Given the description of an element on the screen output the (x, y) to click on. 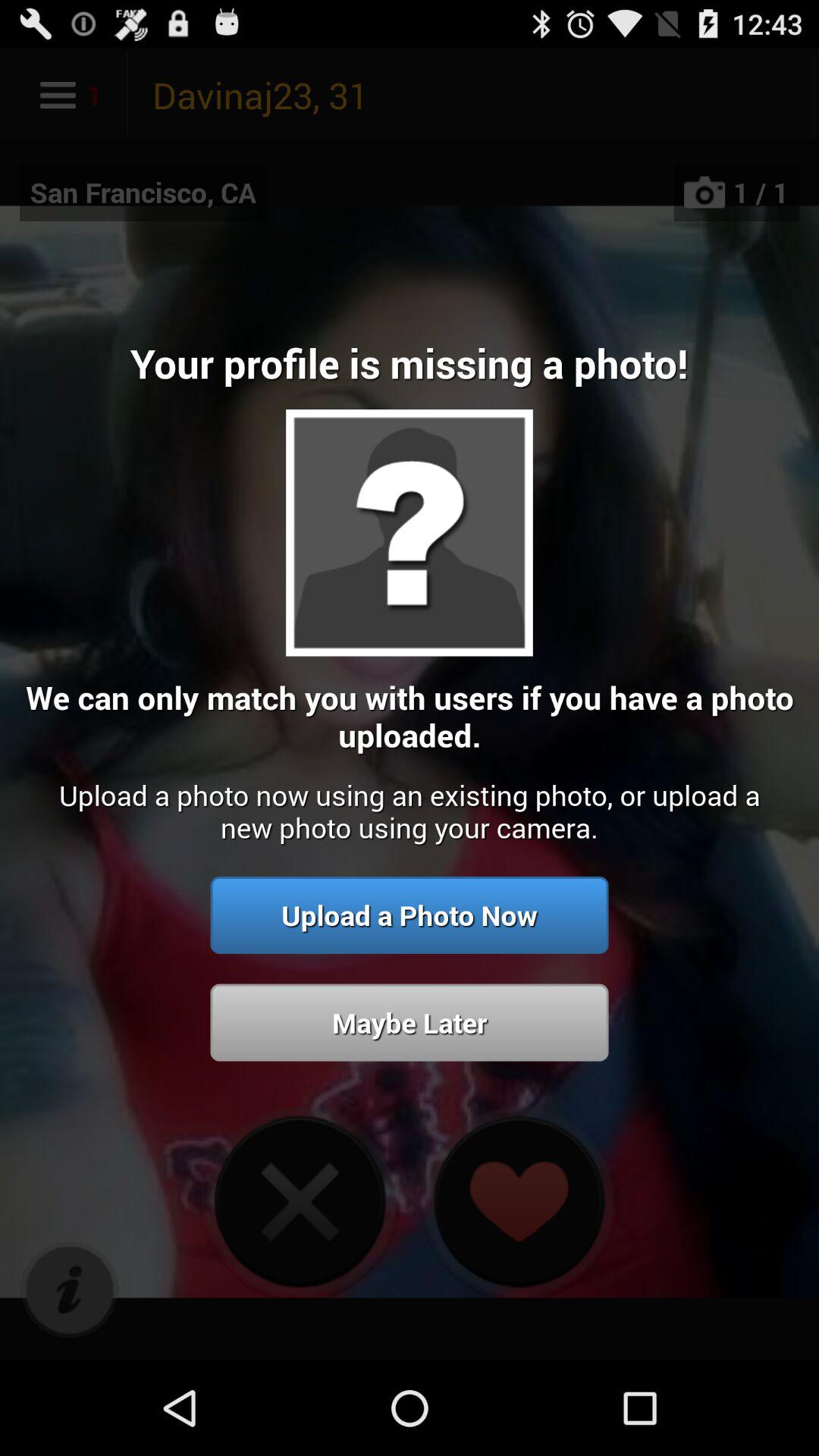
click button at the bottom left corner (69, 1290)
